Given the description of an element on the screen output the (x, y) to click on. 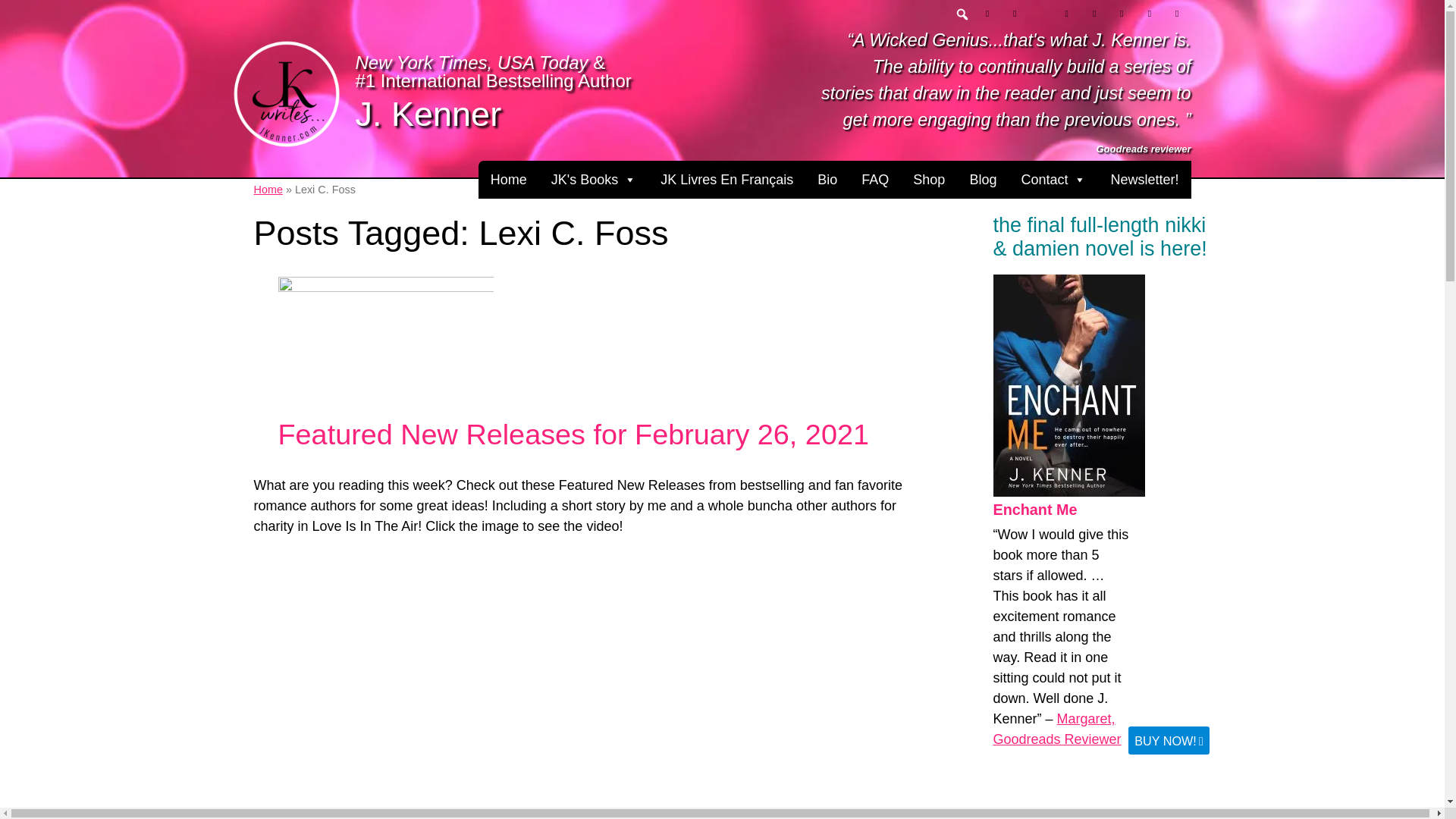
Featured New Releases for February 26, 2021 (572, 434)
Search (11, 8)
Shop (928, 179)
Featured New Releases for February 26, 2021 (385, 347)
JK's Books (592, 179)
Home (508, 179)
Blog (982, 179)
JK on Instagram (1094, 13)
J. Kenner (427, 114)
JK on Pinterest (1066, 13)
